Given the description of an element on the screen output the (x, y) to click on. 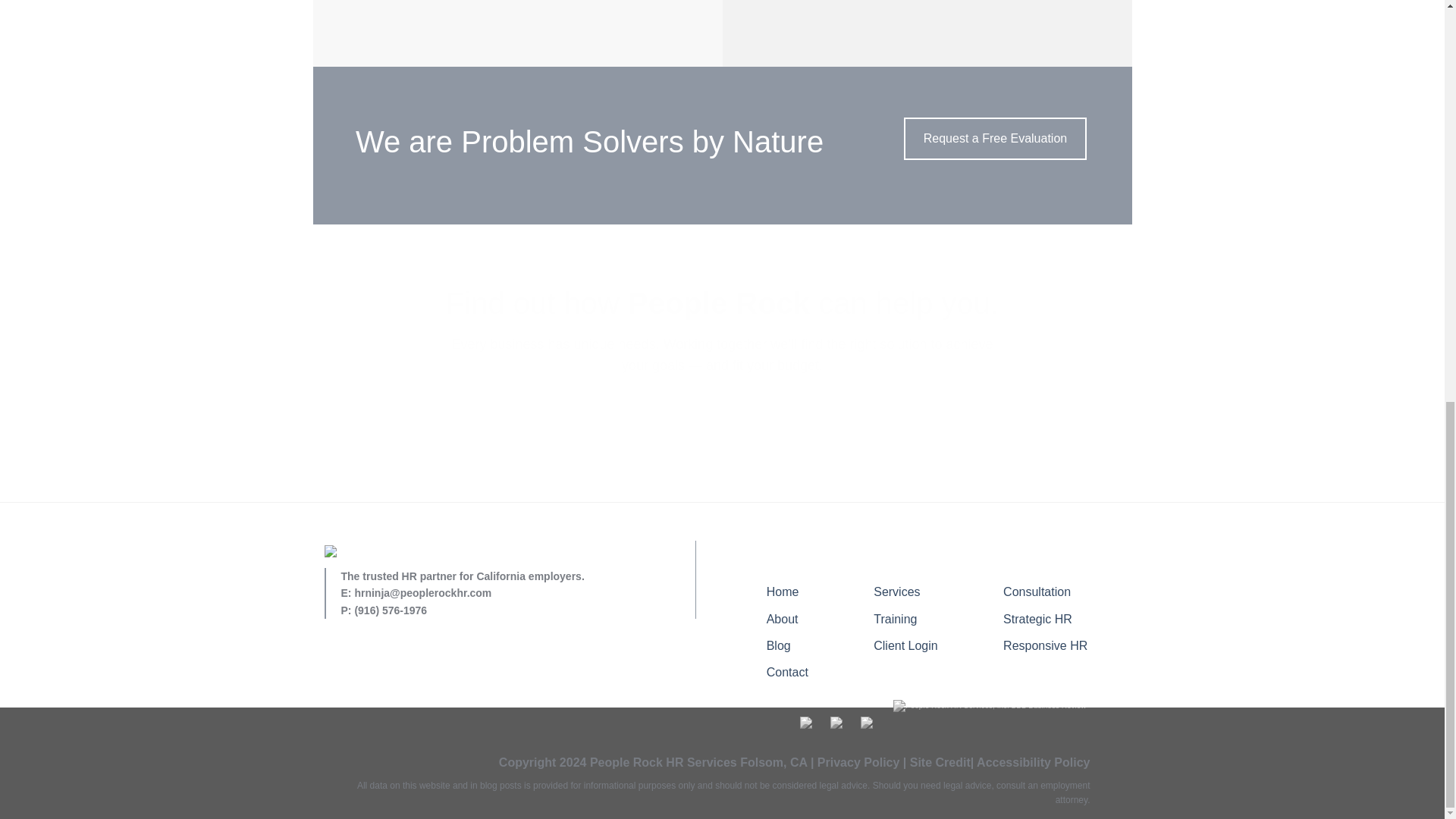
Responsive HR (1045, 645)
Home (783, 591)
Services (896, 591)
Blog (778, 645)
Site Credit (940, 762)
Contact (787, 671)
About (782, 618)
Accessibility Policy (1032, 762)
Privacy Policy (857, 762)
Training (895, 618)
Strategic HR (1037, 618)
Request a Free Evaluation (995, 138)
Client Login (905, 645)
Consultation (1036, 591)
